Given the description of an element on the screen output the (x, y) to click on. 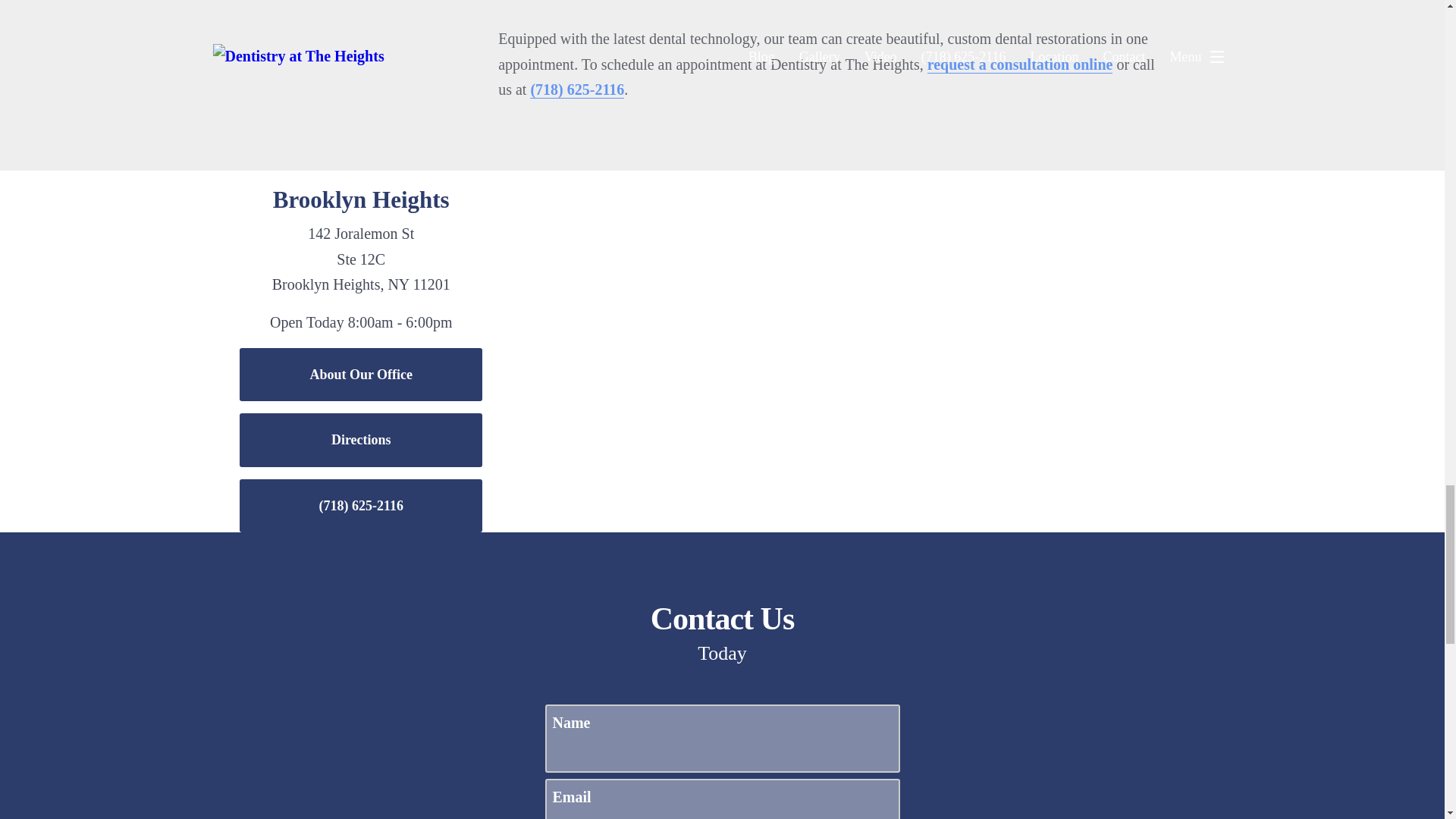
request a consultation online (1020, 64)
About Our Office (360, 374)
Directions (360, 439)
Locations (1035, 182)
Brooklyn Heights (361, 199)
